Given the description of an element on the screen output the (x, y) to click on. 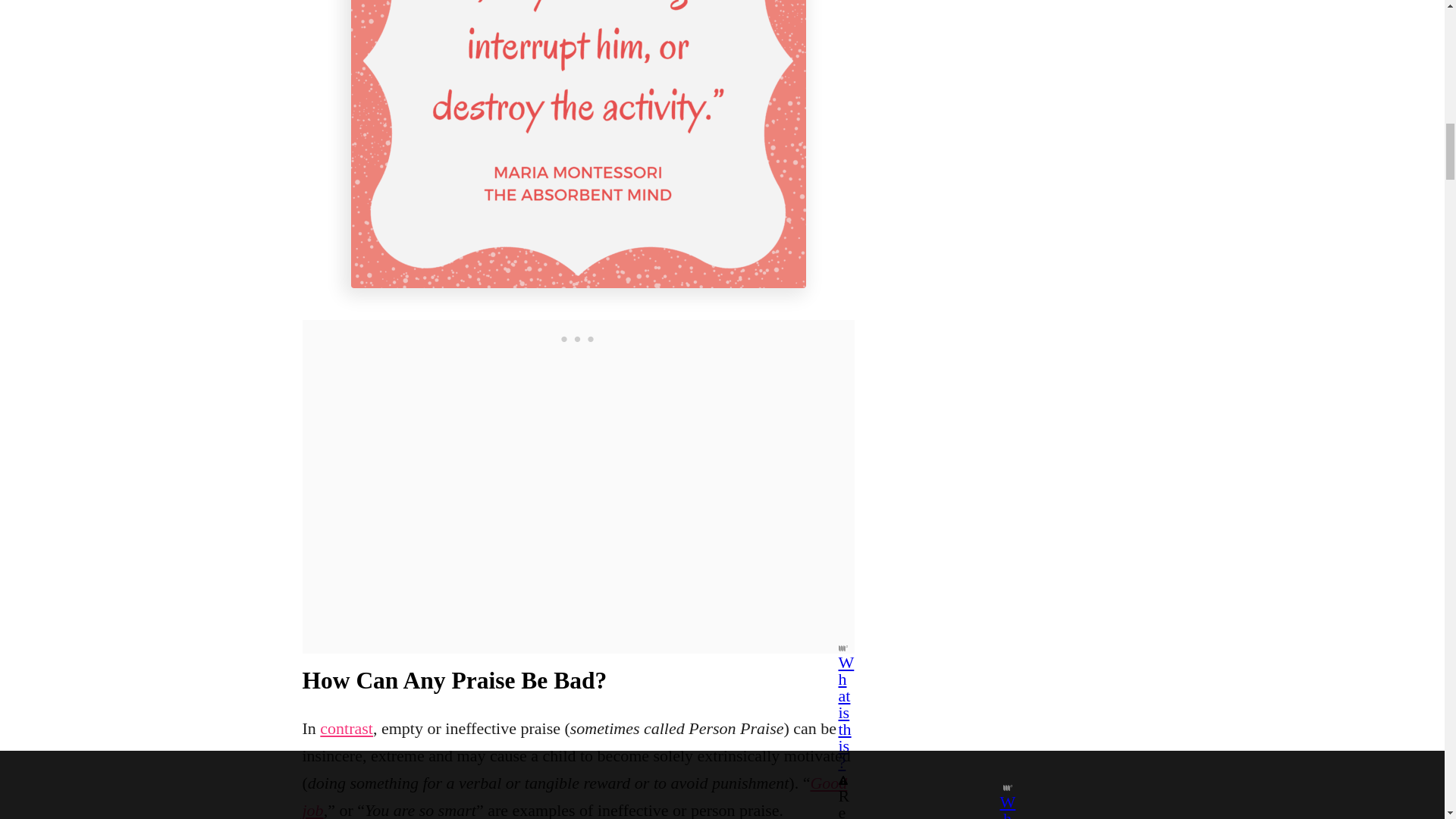
Good job (574, 796)
3rd party ad content (577, 338)
contrast (346, 728)
